Given the description of an element on the screen output the (x, y) to click on. 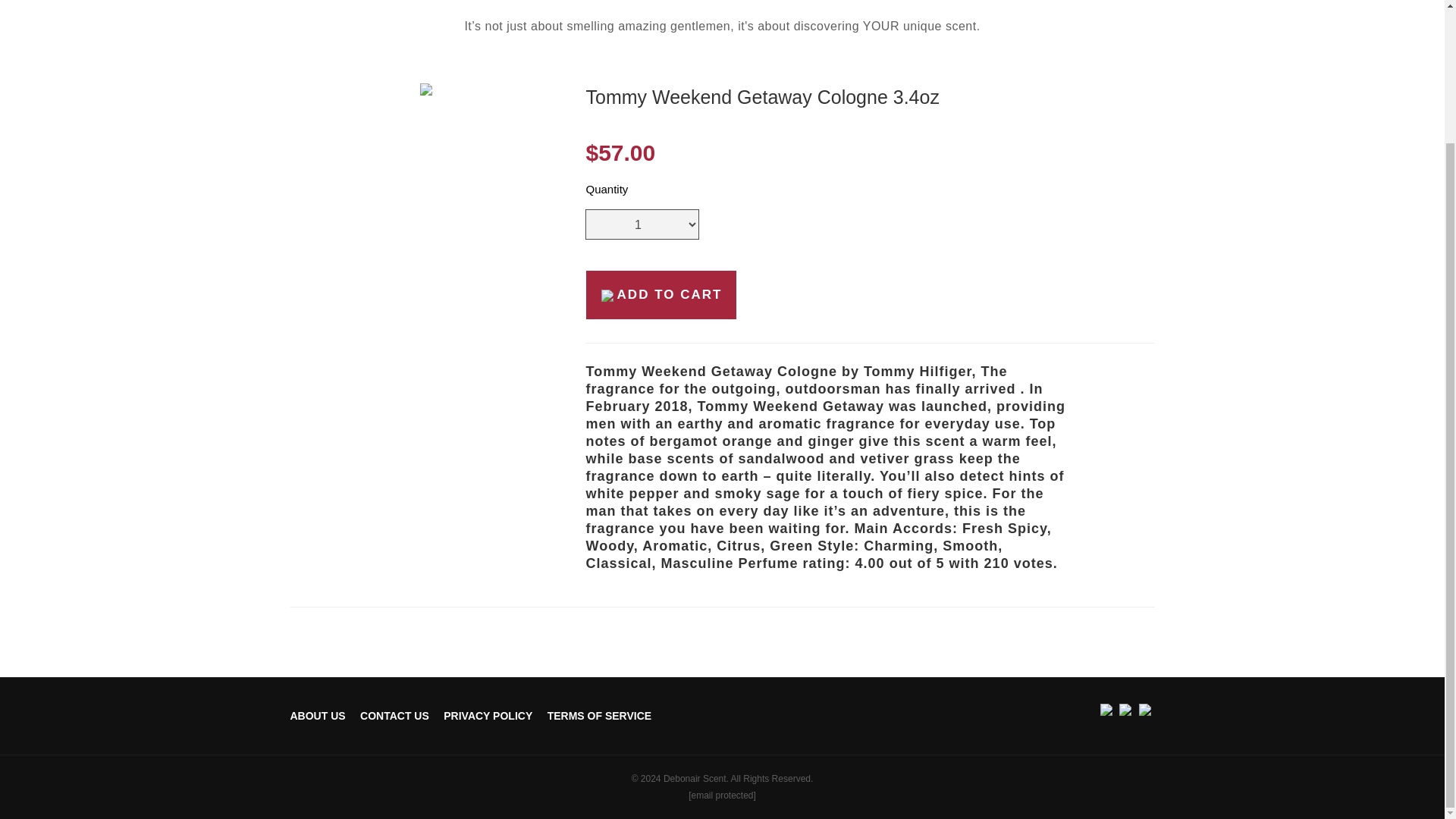
ADD TO CART (660, 295)
CONTACT US (394, 715)
PRIVACY POLICY (488, 715)
ABOUT US (317, 715)
TERMS OF SERVICE (598, 715)
